Given the description of an element on the screen output the (x, y) to click on. 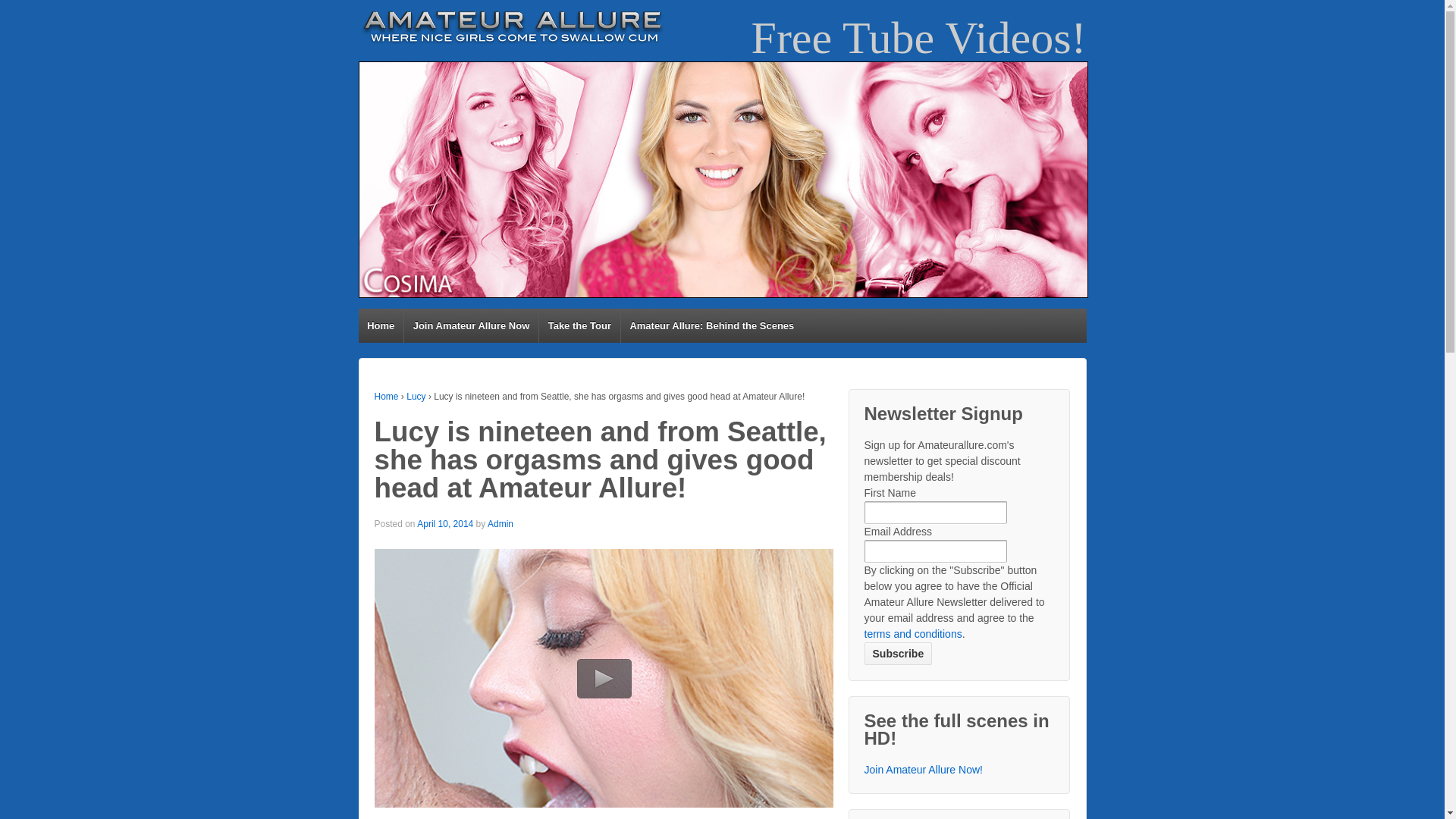
View all posts by Admin (500, 523)
2:56 pm (444, 523)
Subscribe (898, 653)
